Given the description of an element on the screen output the (x, y) to click on. 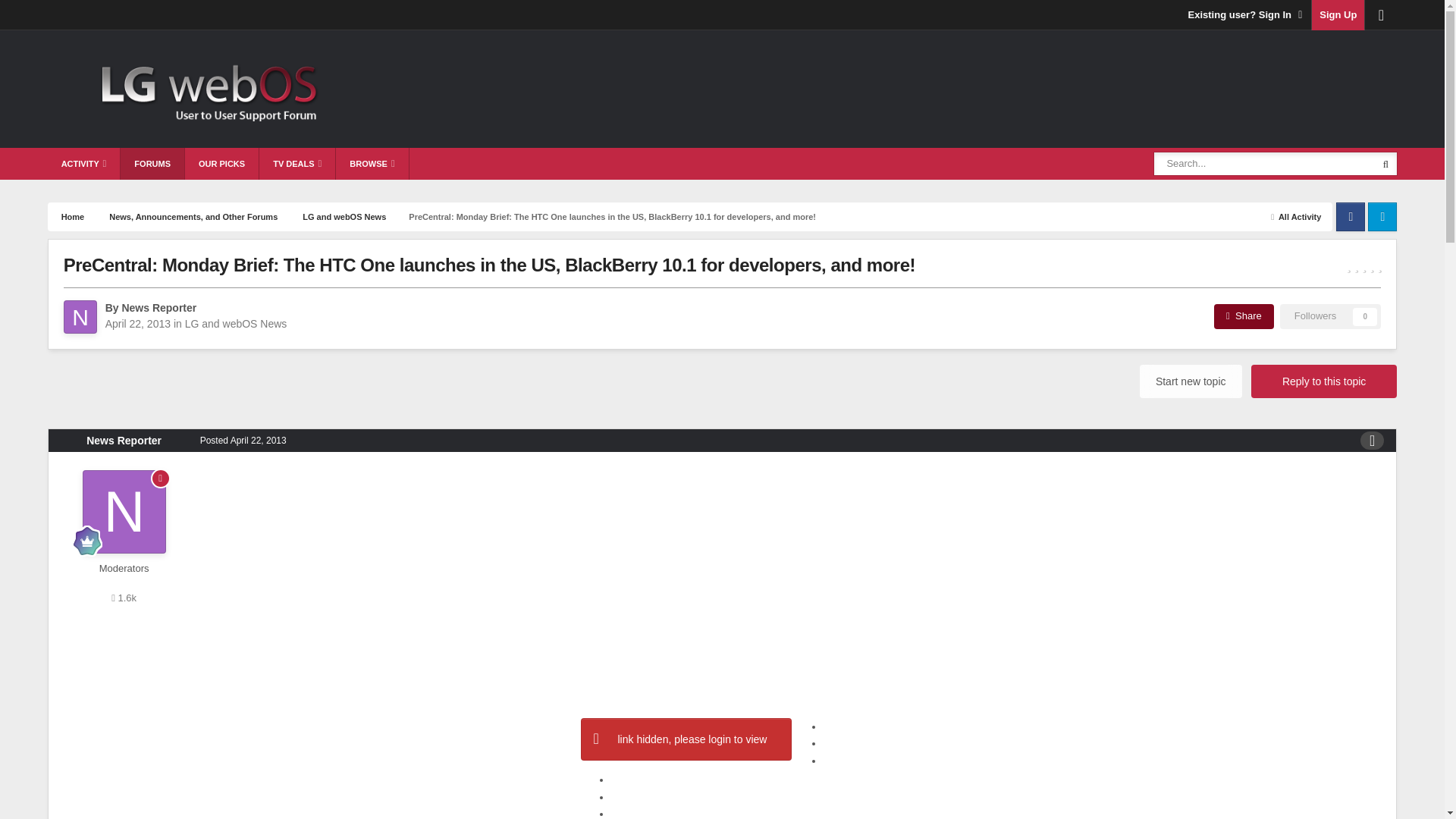
TV DEALS (296, 163)
Existing user? Sign In   (1245, 15)
Sign in to follow this (1330, 315)
Twitter (1382, 215)
OUR PICKS (221, 163)
Go to News Reporter's profile (80, 316)
Sign Up (1337, 15)
News, Announcements, and Other Forums (192, 215)
Customizer (1380, 15)
Home (72, 215)
